Given the description of an element on the screen output the (x, y) to click on. 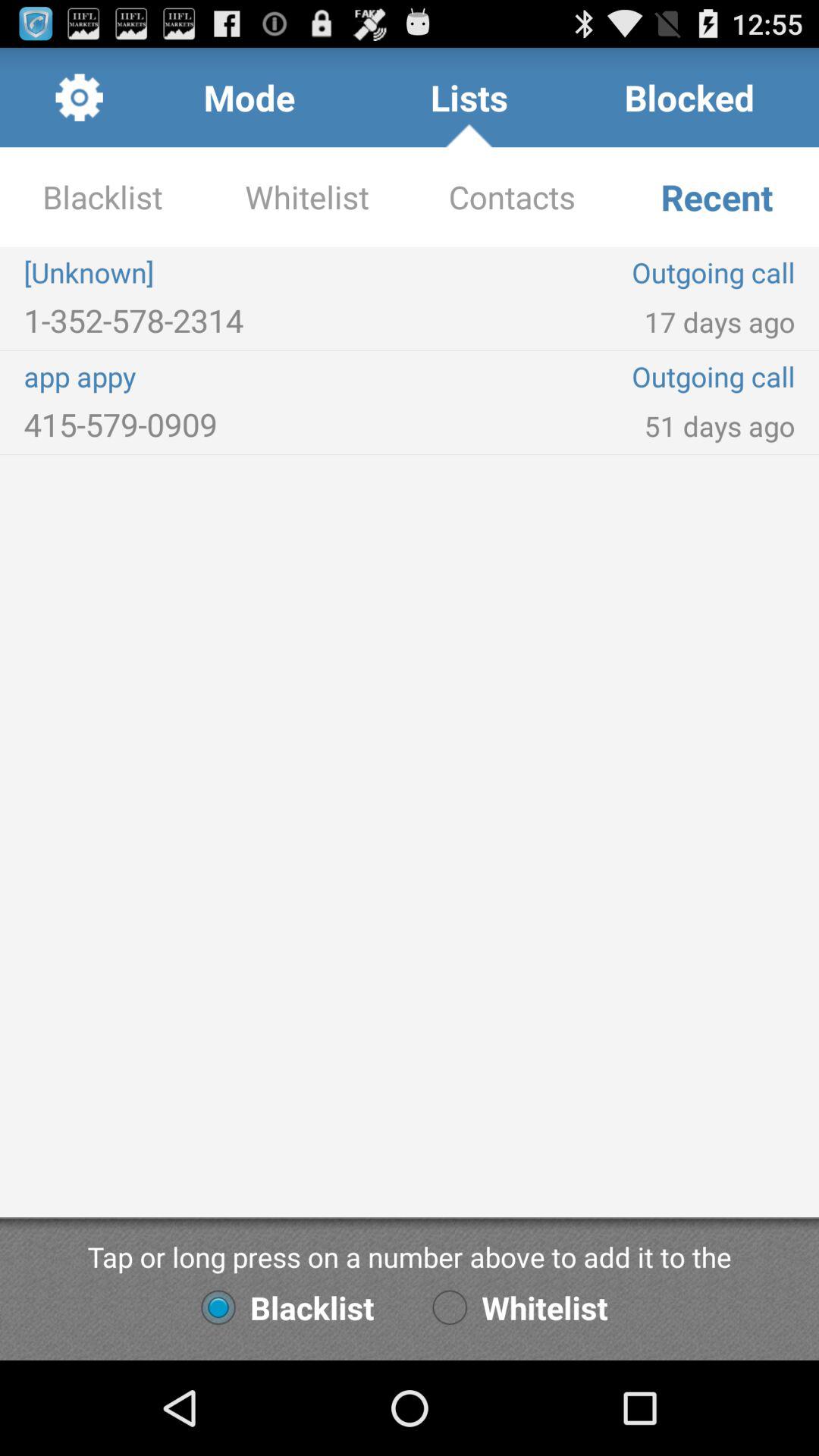
turn on app above the 415-579-0909 (216, 376)
